Given the description of an element on the screen output the (x, y) to click on. 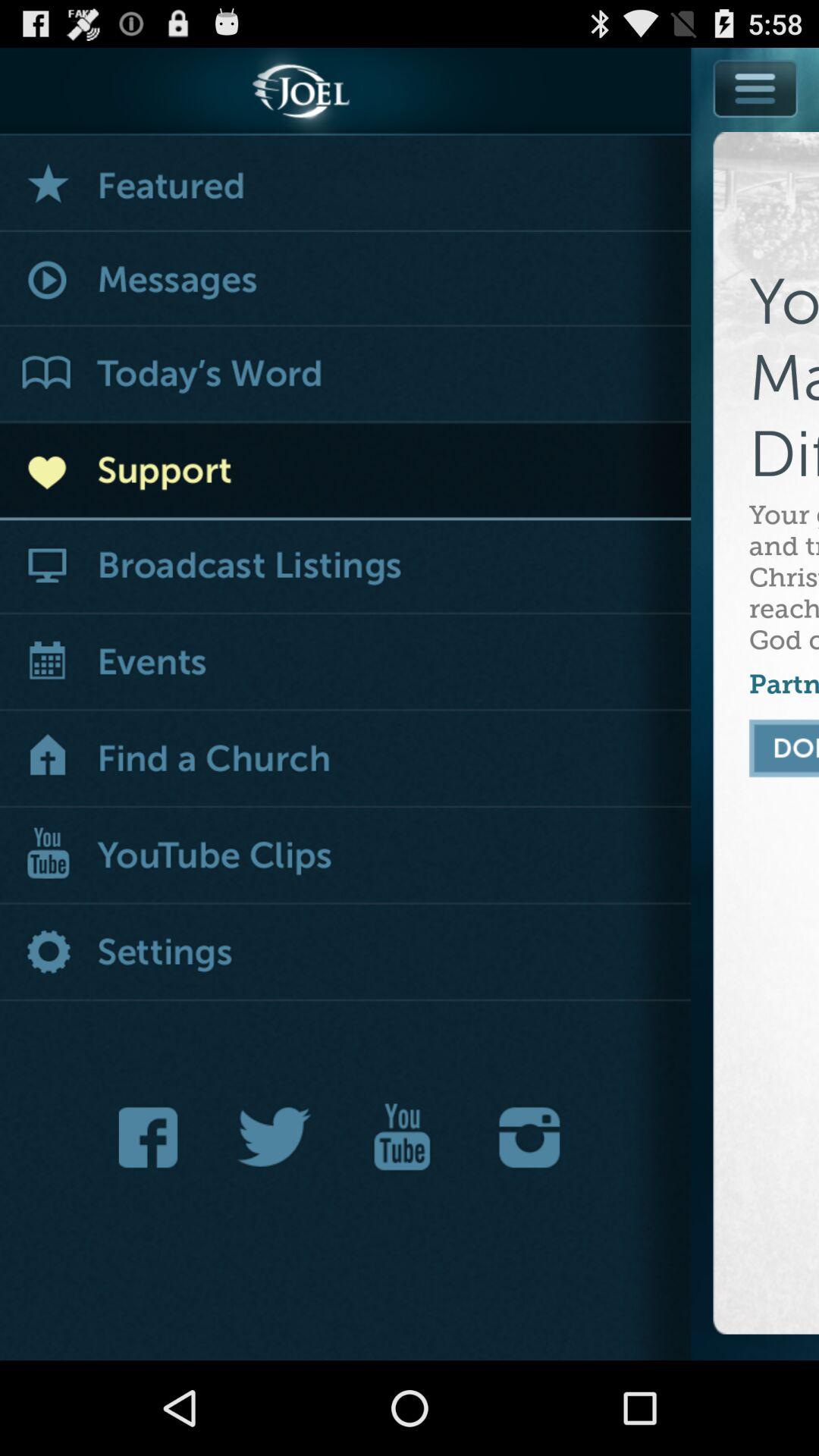
click for podcasts (345, 566)
